Given the description of an element on the screen output the (x, y) to click on. 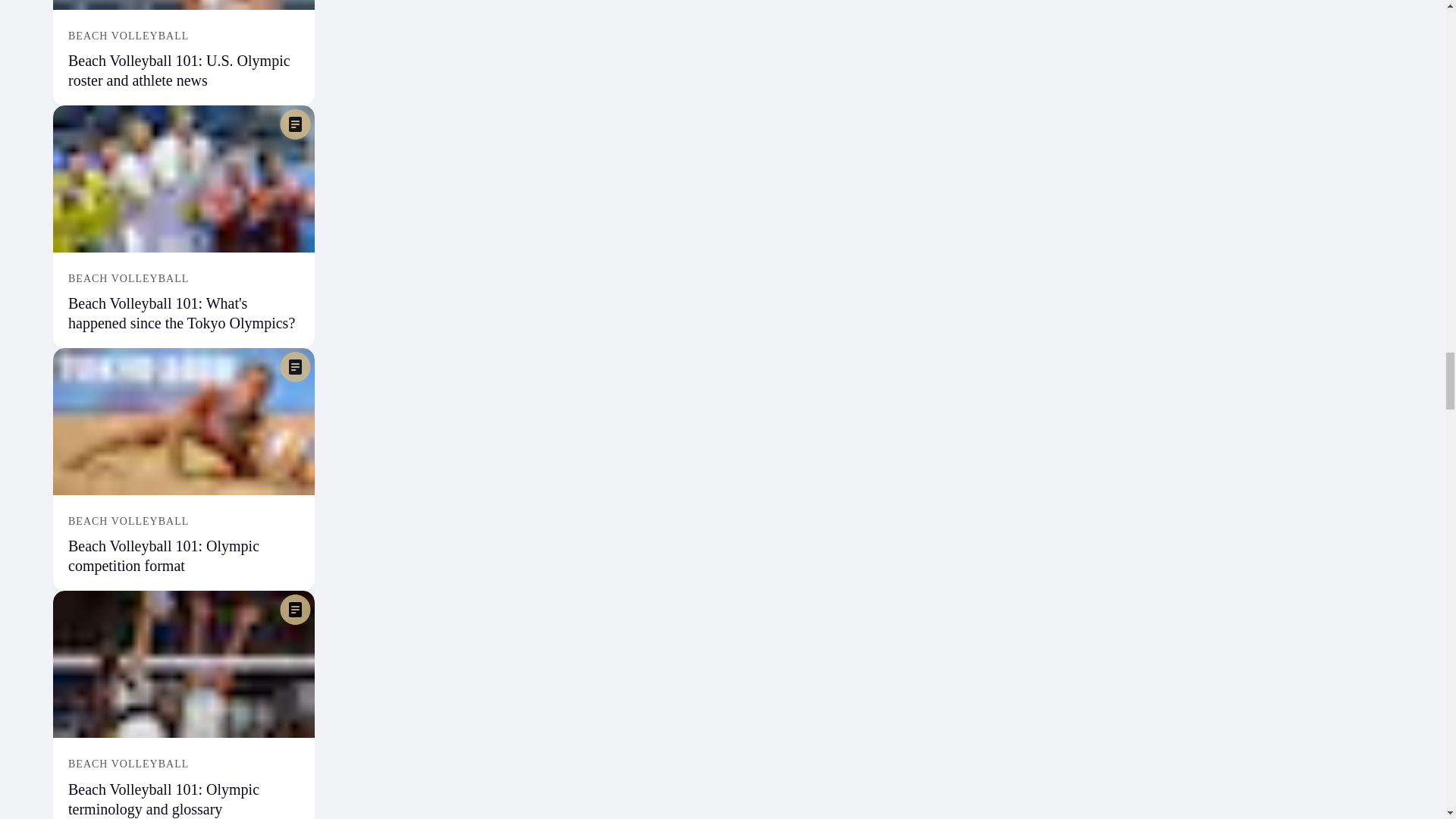
BEACH VOLLEYBALL (183, 278)
Beach Volleyball 101: U.S. Olympic roster and athlete news (178, 70)
BEACH VOLLEYBALL (183, 36)
BEACH VOLLEYBALL (183, 521)
